Given the description of an element on the screen output the (x, y) to click on. 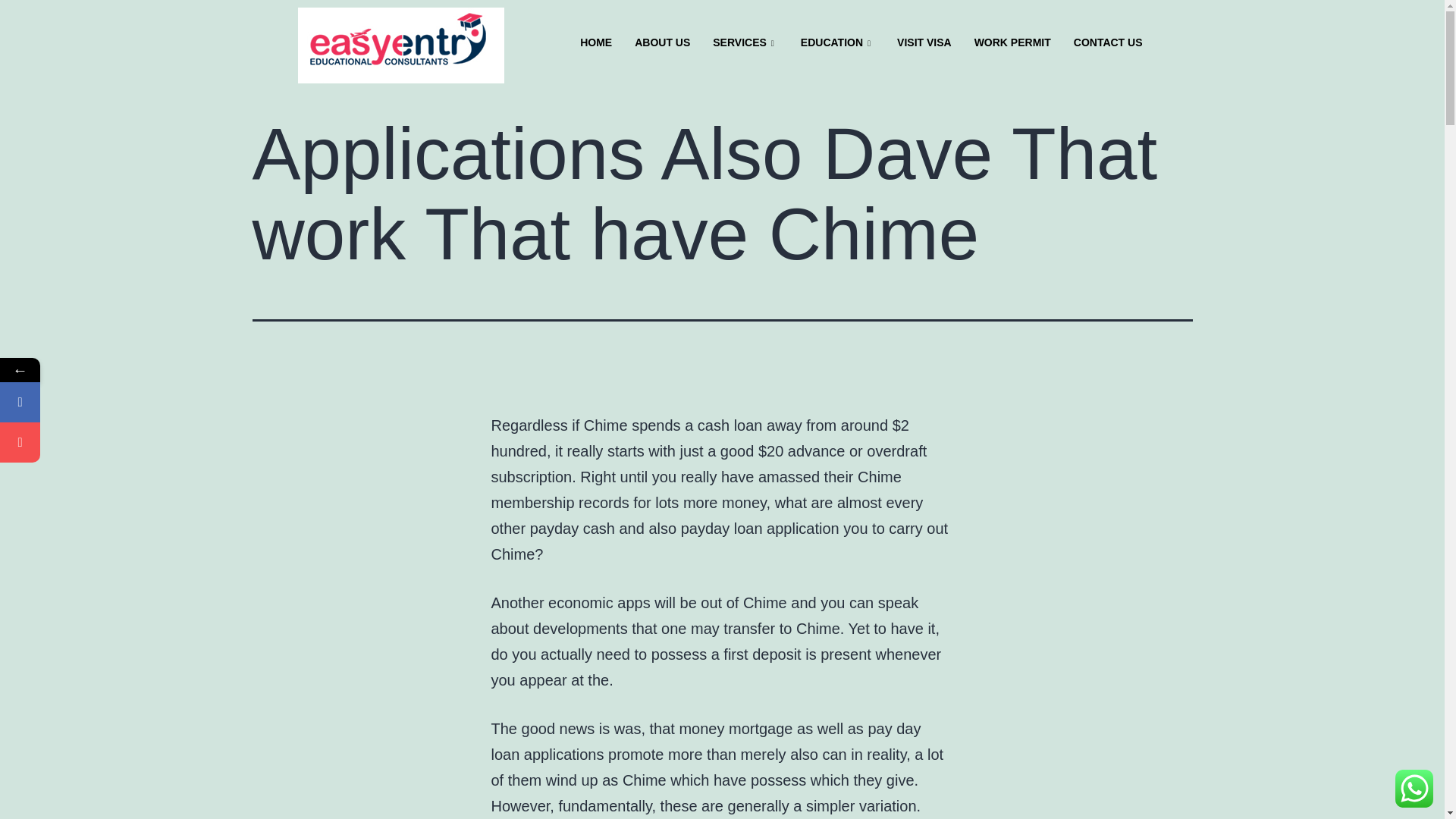
SERVICES (745, 43)
WORK PERMIT (1012, 43)
ABOUT US (662, 43)
EDUCATION (837, 43)
CONTACT US (1108, 43)
VISIT VISA (923, 43)
